Given the description of an element on the screen output the (x, y) to click on. 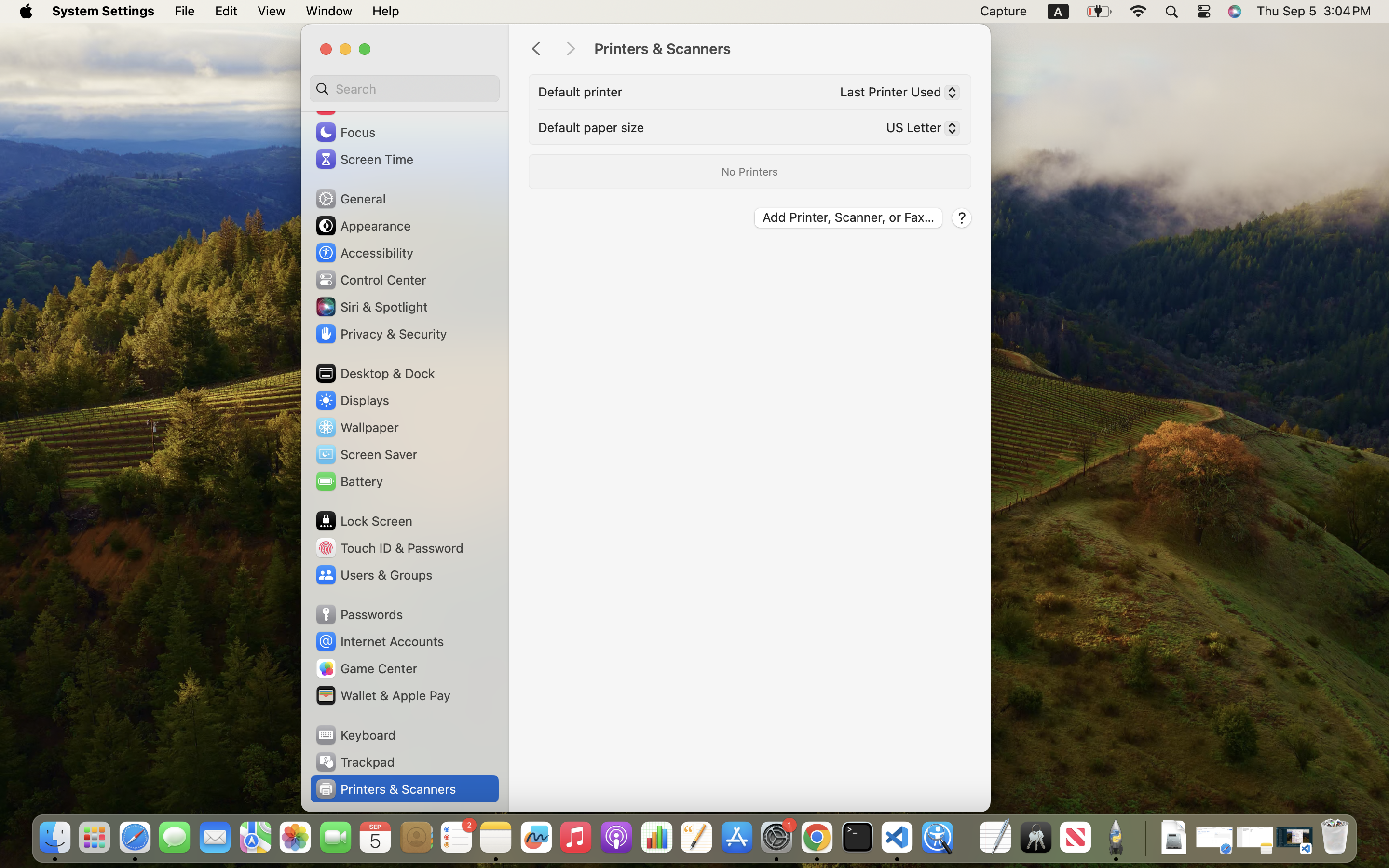
Desktop & Dock Element type: AXStaticText (374, 372)
Accessibility Element type: AXStaticText (363, 252)
Printers & Scanners Element type: AXStaticText (782, 49)
Wallpaper Element type: AXStaticText (356, 426)
